Given the description of an element on the screen output the (x, y) to click on. 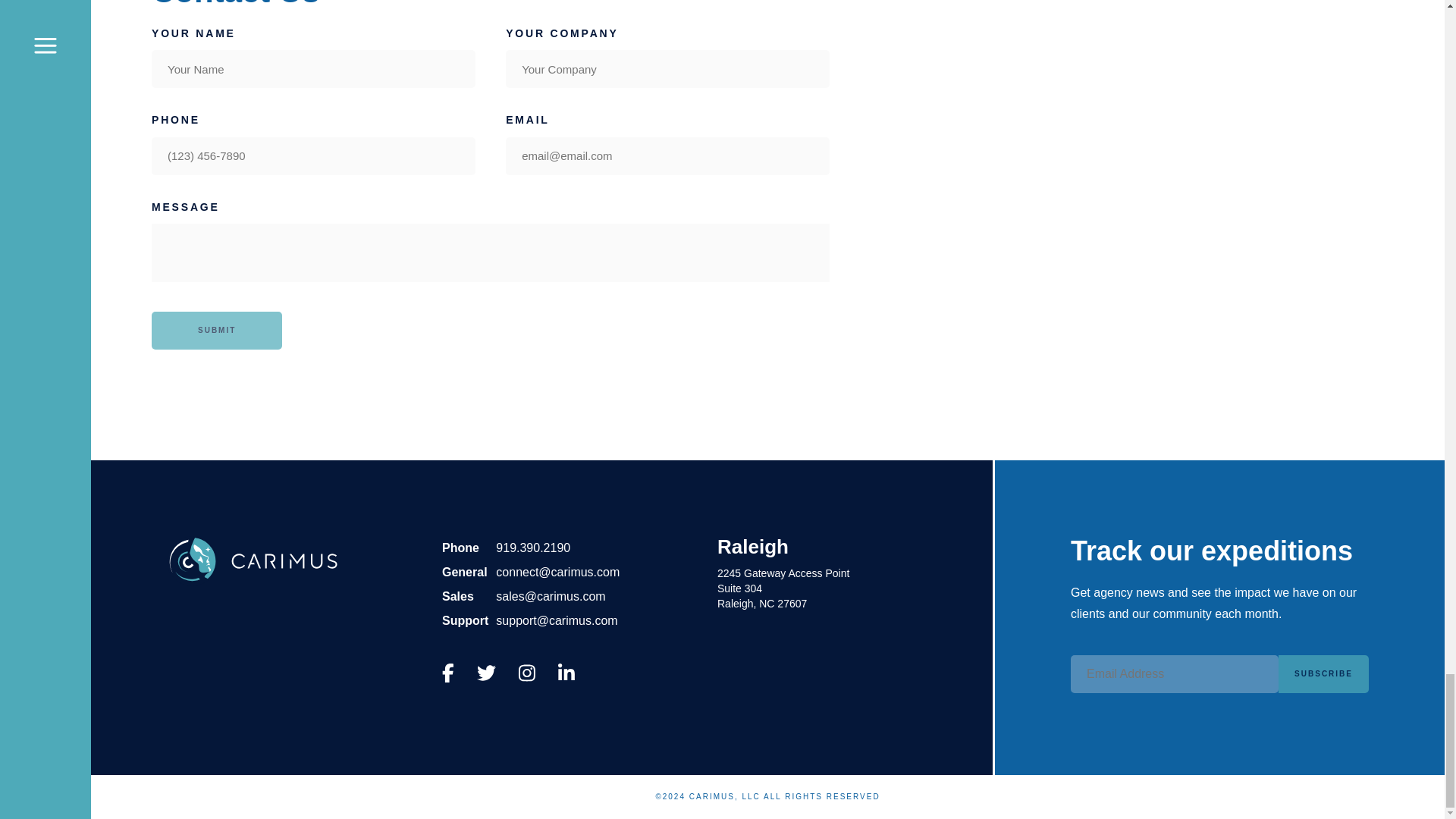
Back to Home (782, 588)
SUBSCRIBE (252, 581)
919.390.2190 (1323, 673)
SUBMIT (533, 547)
